Given the description of an element on the screen output the (x, y) to click on. 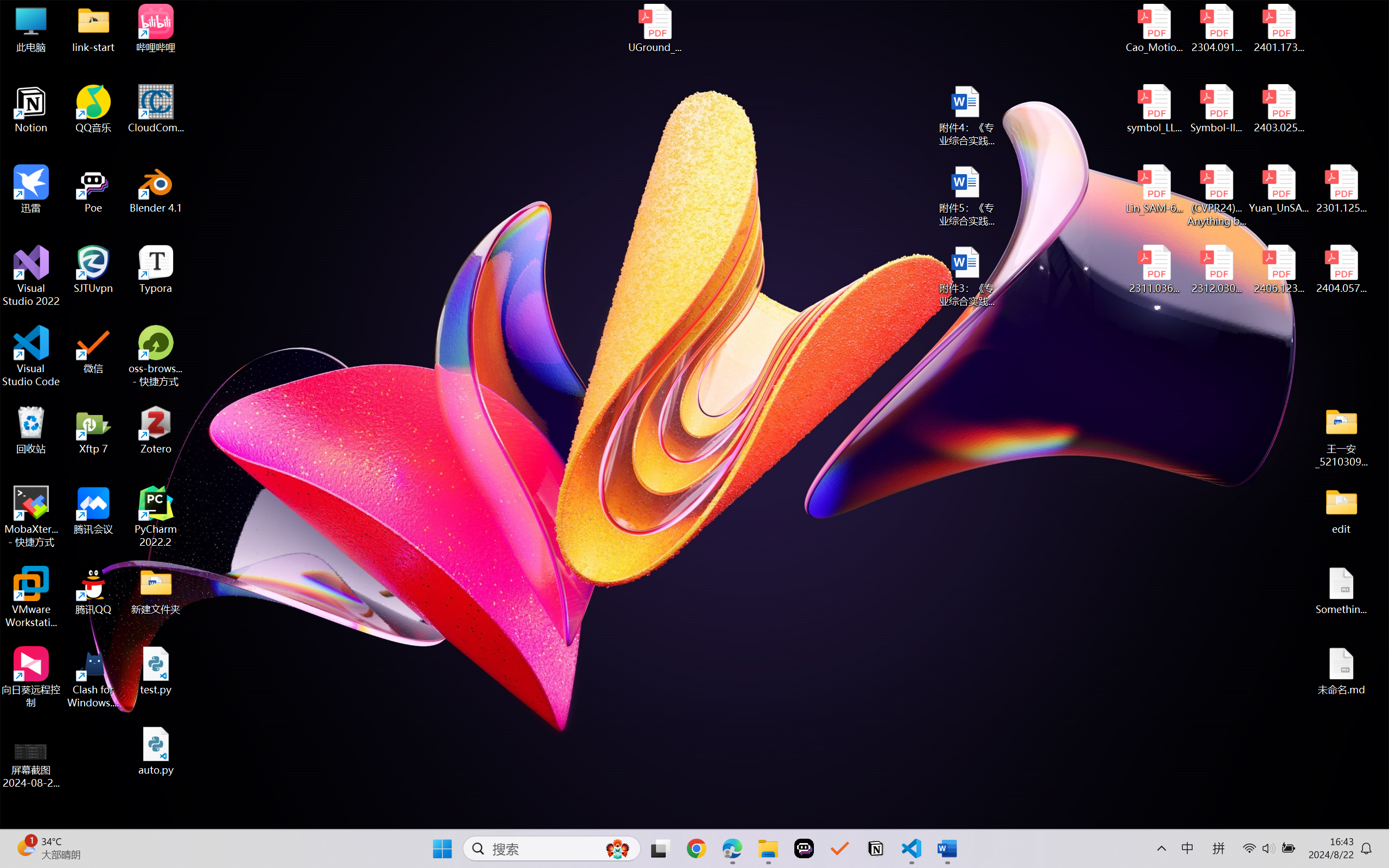
2312.03032v2.pdf (1216, 269)
(CVPR24)Matching Anything by Segmenting Anything.pdf (1216, 195)
Blender 4.1 (156, 189)
2401.17399v1.pdf (1278, 28)
